Given the description of an element on the screen output the (x, y) to click on. 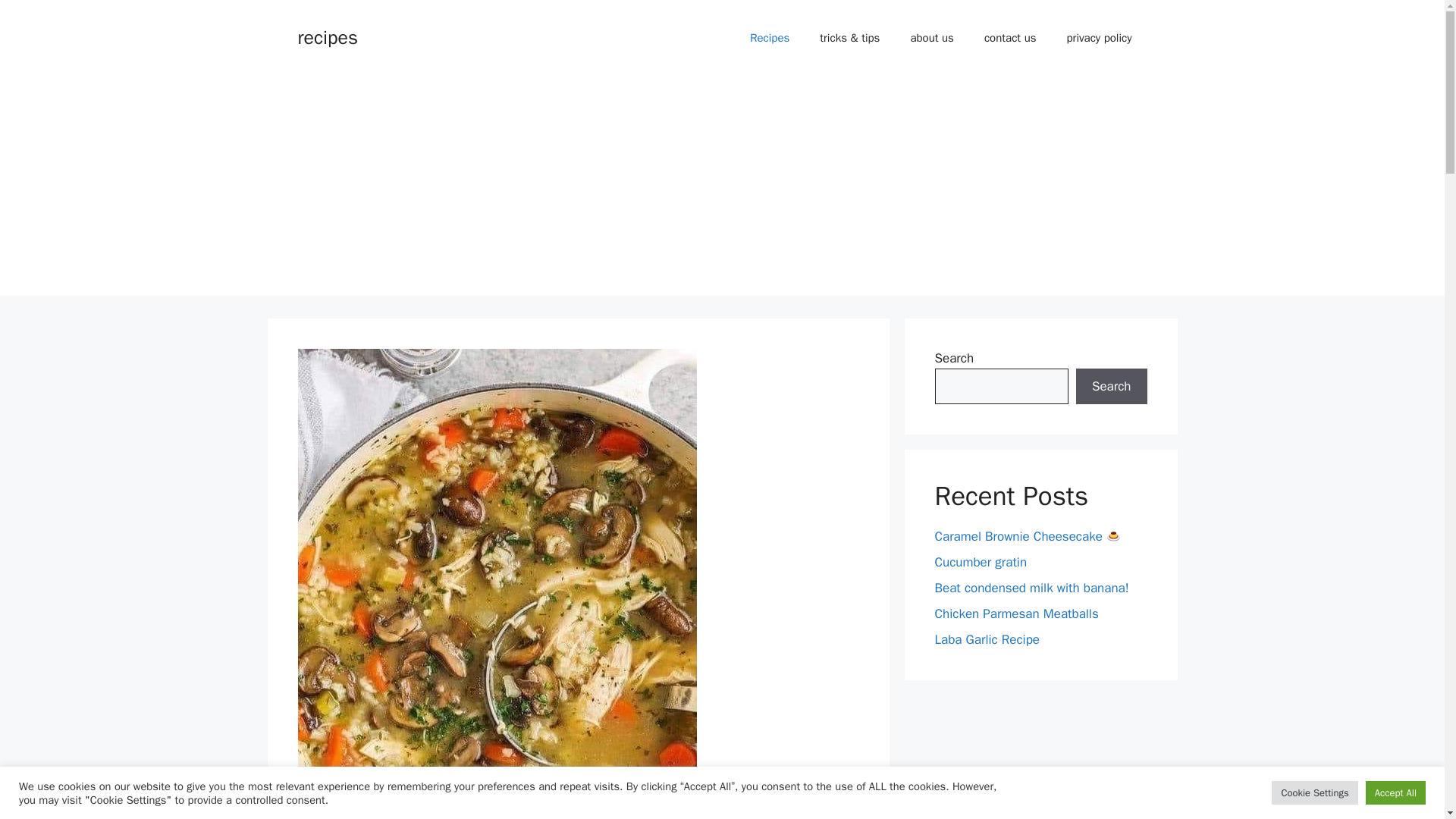
Cookie Settings (1313, 792)
about us (932, 37)
contact us (1010, 37)
Search (1111, 386)
Cucumber gratin (980, 562)
Laba Garlic Recipe (986, 639)
Chicken Parmesan Meatballs (1015, 613)
Caramel Brownie Cheesecake (1027, 536)
Beat condensed milk with banana! (1031, 587)
